Given the description of an element on the screen output the (x, y) to click on. 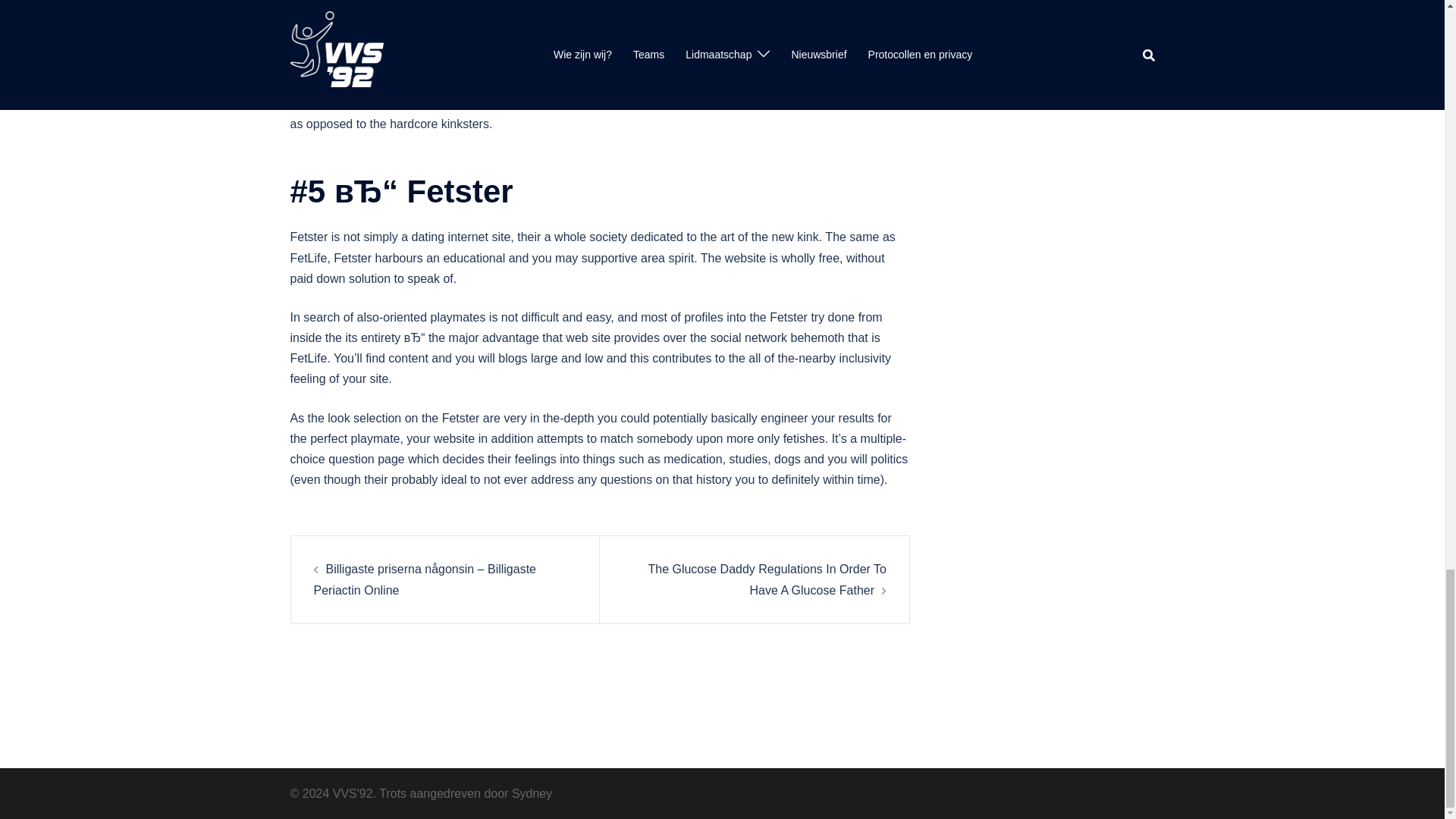
Sydney (531, 793)
